Given the description of an element on the screen output the (x, y) to click on. 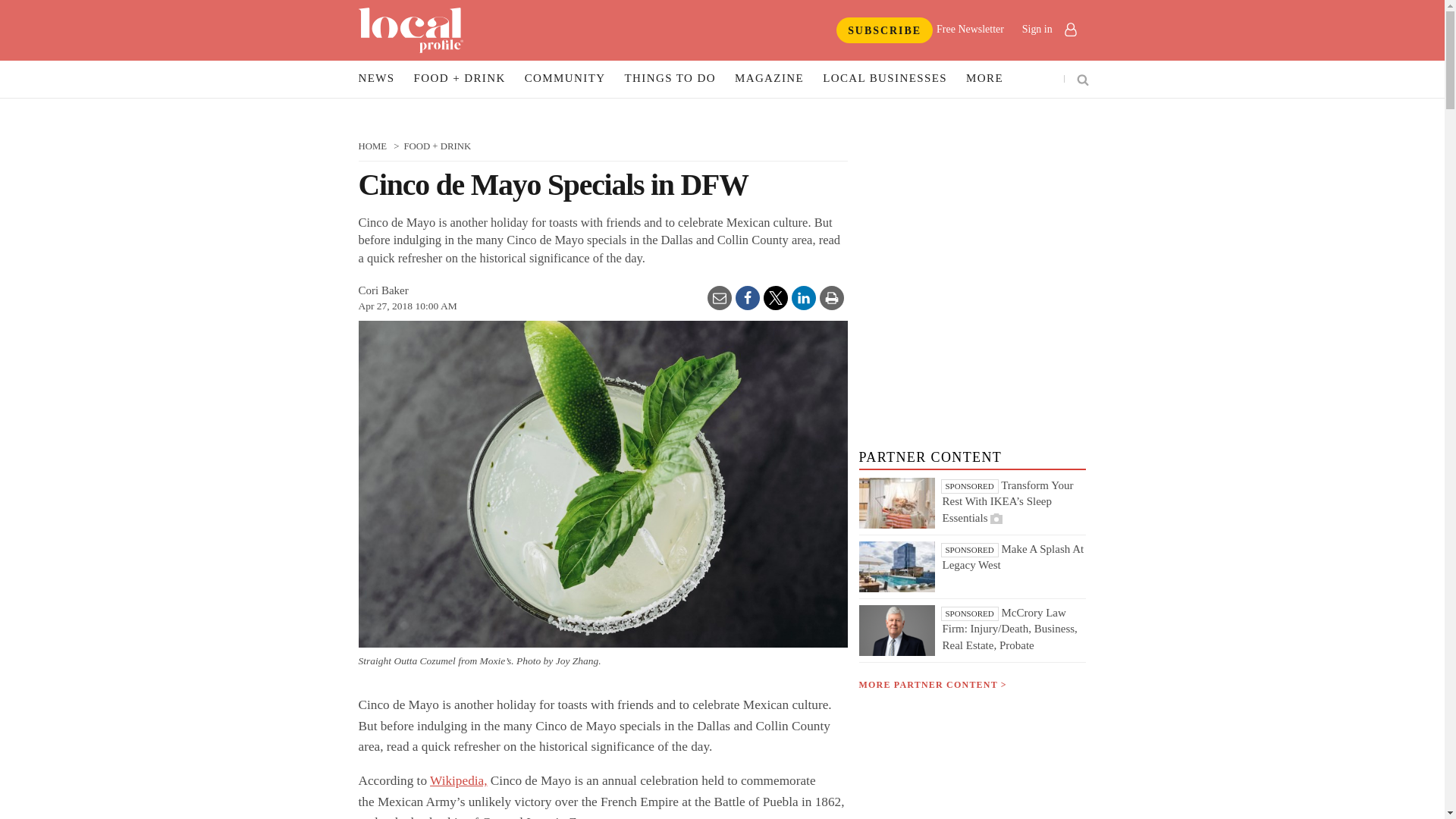
LOCAL BUSINESSES (884, 79)
MAGAZINE (769, 79)
HOME (372, 145)
Sign in (1048, 28)
COMMUNITY (565, 79)
Free Newsletter (970, 29)
THINGS TO DO (669, 79)
SUBSCRIBE (884, 30)
NEWS (376, 79)
3rd party ad content (972, 655)
